Given the description of an element on the screen output the (x, y) to click on. 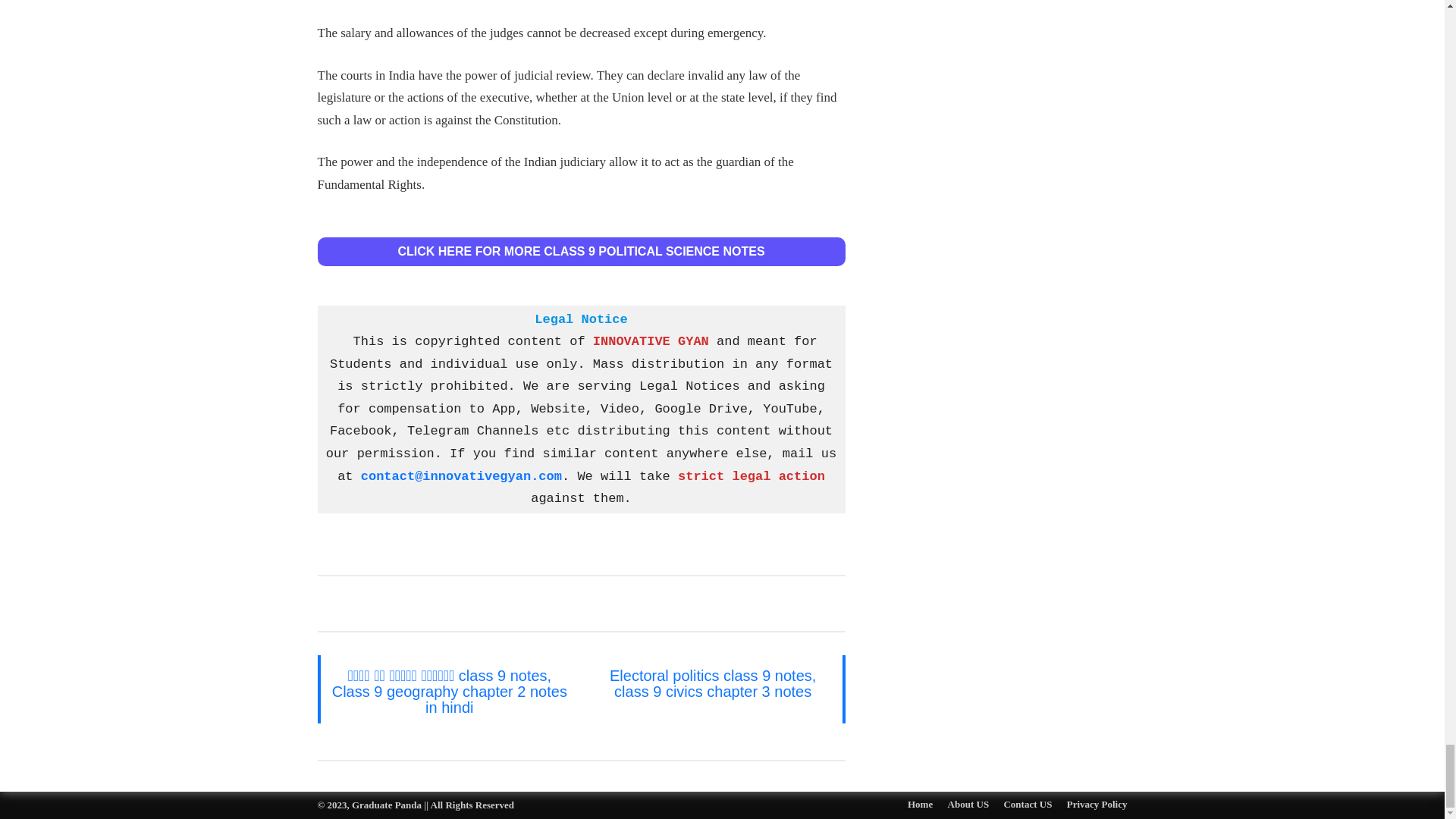
CLICK HERE FOR MORE CLASS 9 POLITICAL SCIENCE NOTES (580, 251)
